Given the description of an element on the screen output the (x, y) to click on. 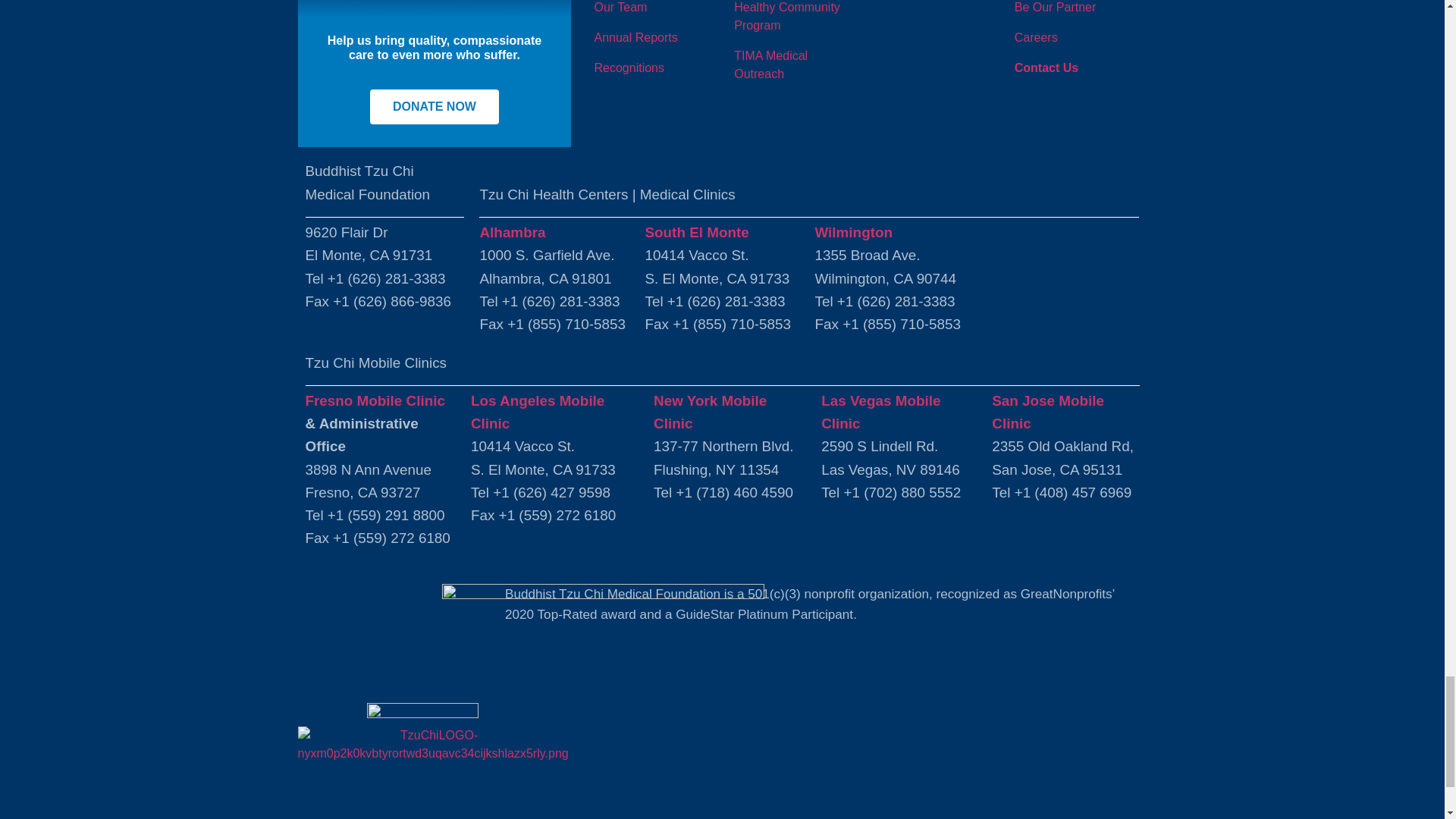
TzuChiLOGO-nyxm0p2k0kvbtyrortwd3uqavc34cijkshlazx5rly.png (432, 744)
